Given the description of an element on the screen output the (x, y) to click on. 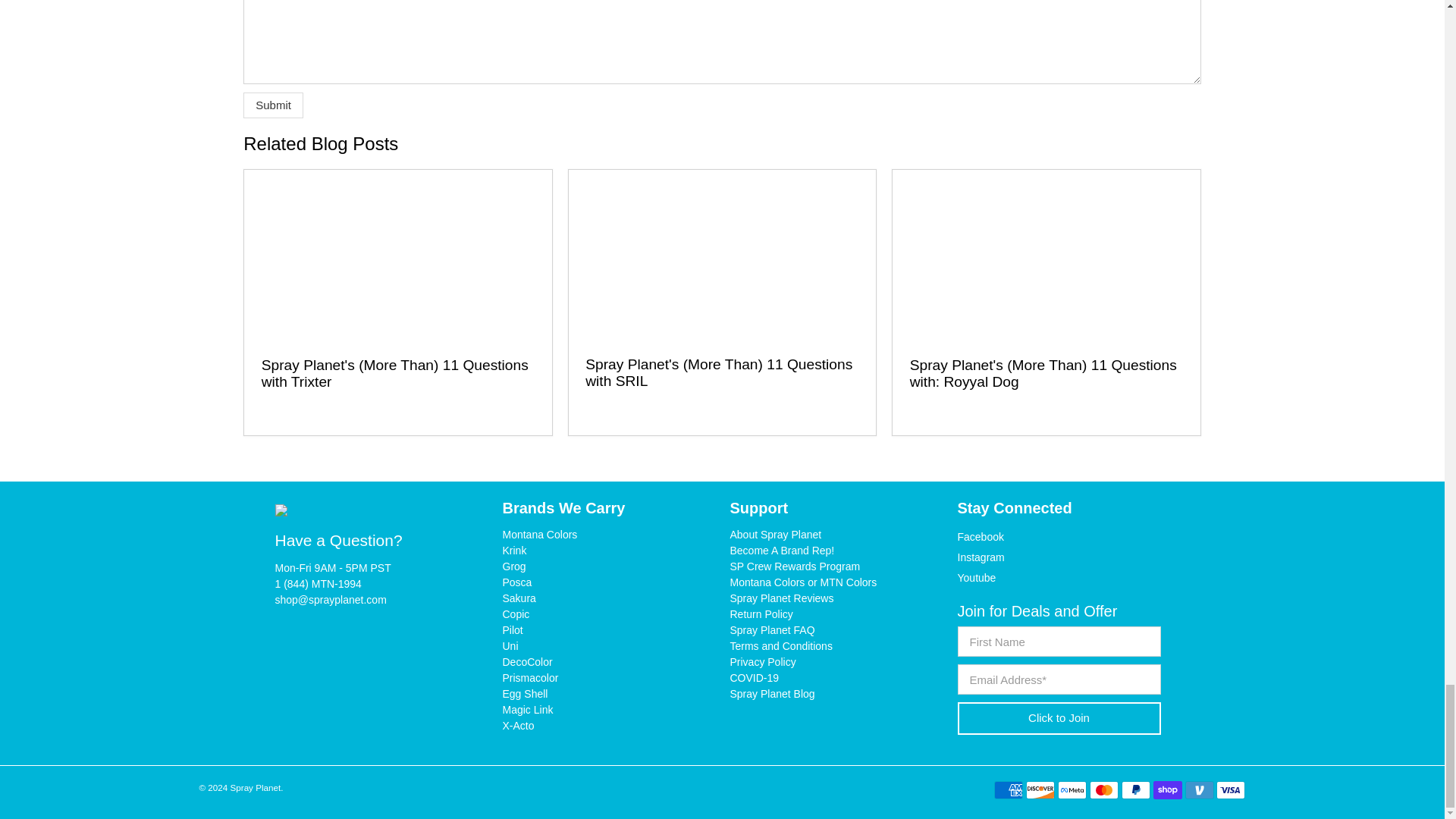
Shop Pay (1167, 790)
PayPal (1135, 790)
Discover (1040, 790)
American Express (1008, 790)
Venmo (1199, 790)
Submit (272, 104)
Visa (1229, 790)
Meta Pay (1072, 790)
sprayplanet on Instagram (980, 557)
Mastercard (1103, 790)
sprayplanet on Facebook (979, 536)
sprayplanet on YouTube (975, 577)
